Given the description of an element on the screen output the (x, y) to click on. 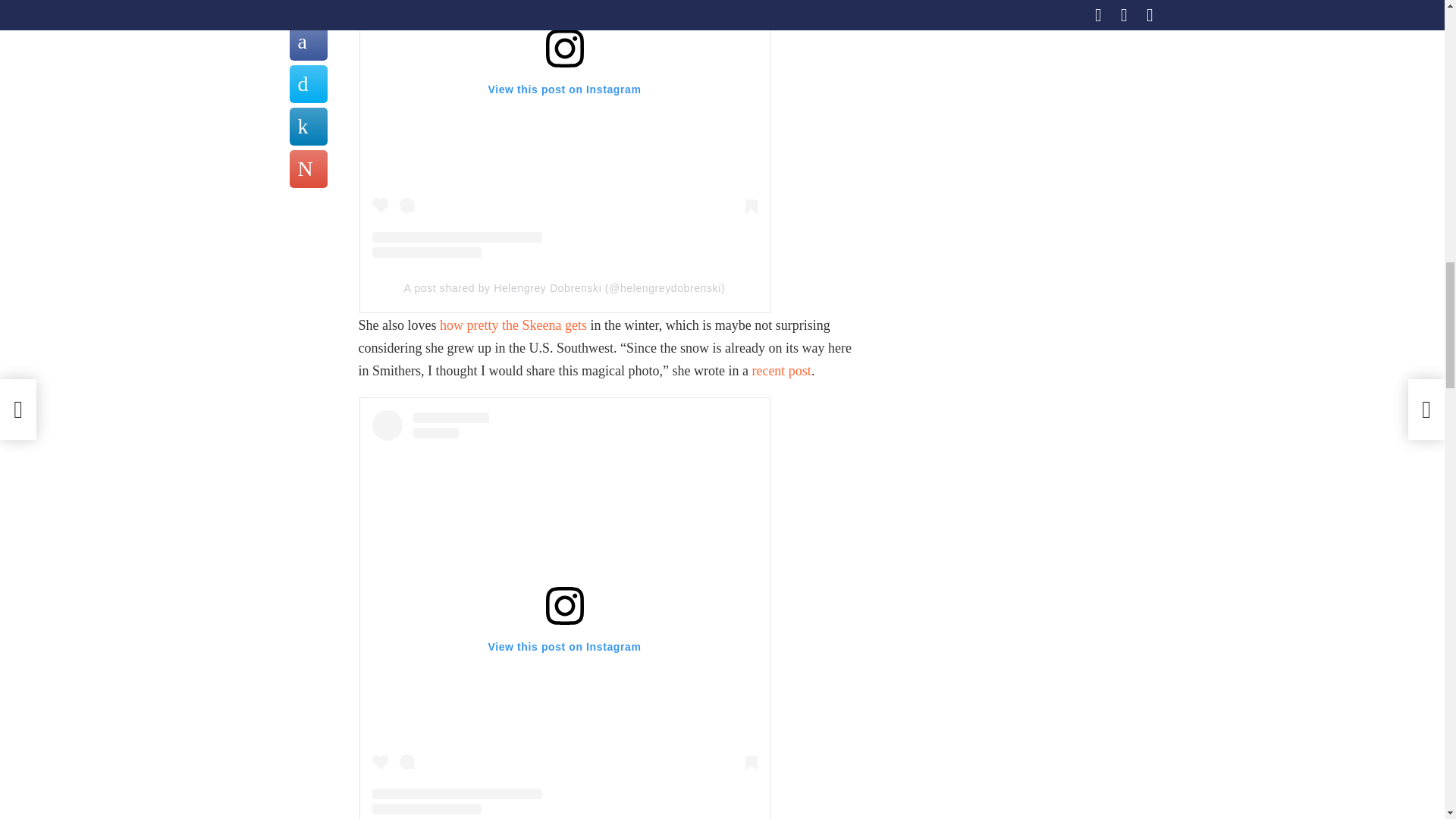
View this post on Instagram (564, 128)
recent post (780, 370)
how pretty the Skeena gets (512, 324)
